Given the description of an element on the screen output the (x, y) to click on. 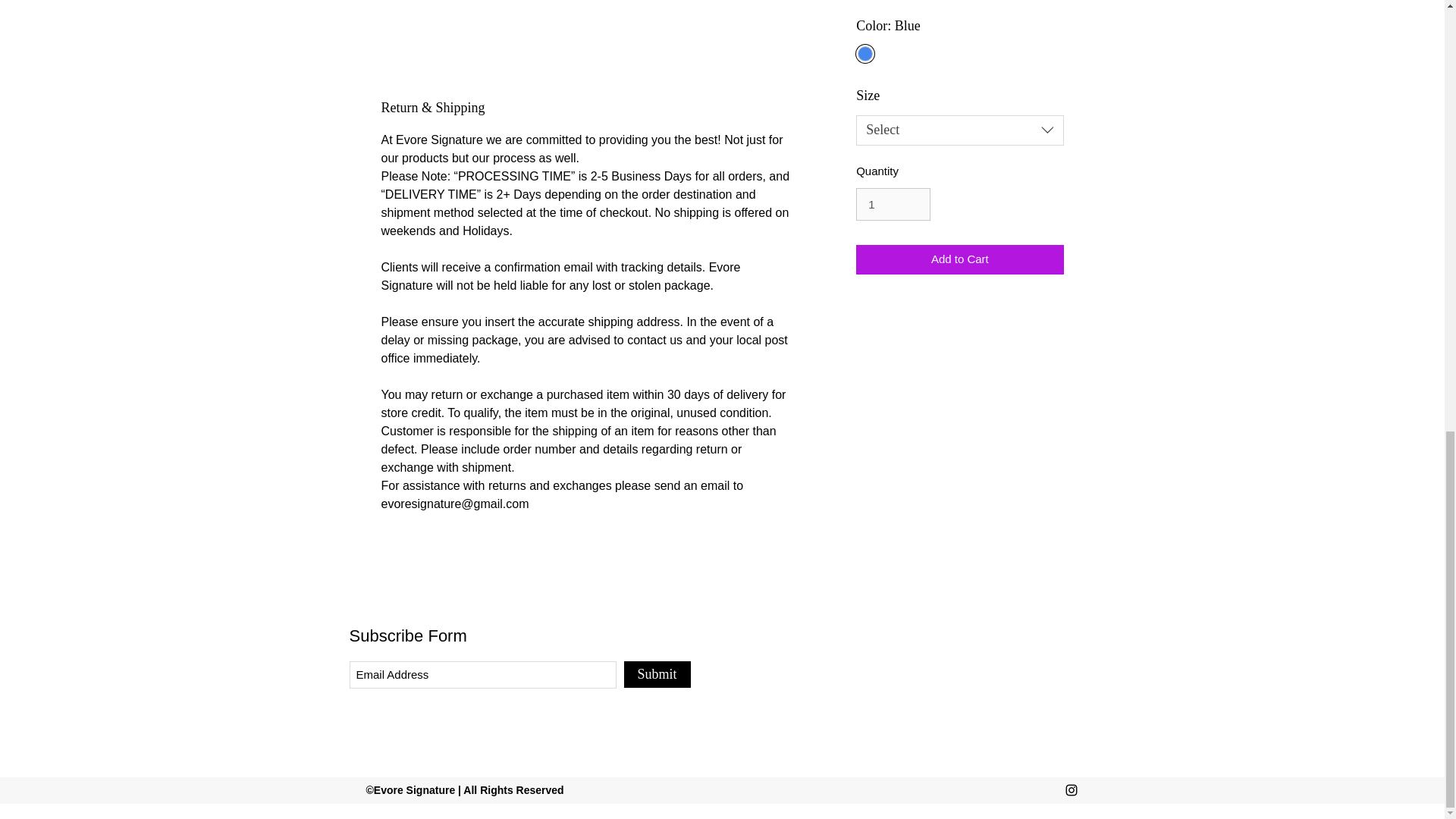
Add to Cart (959, 259)
1 (893, 204)
Select (959, 130)
Submit (656, 673)
